Given the description of an element on the screen output the (x, y) to click on. 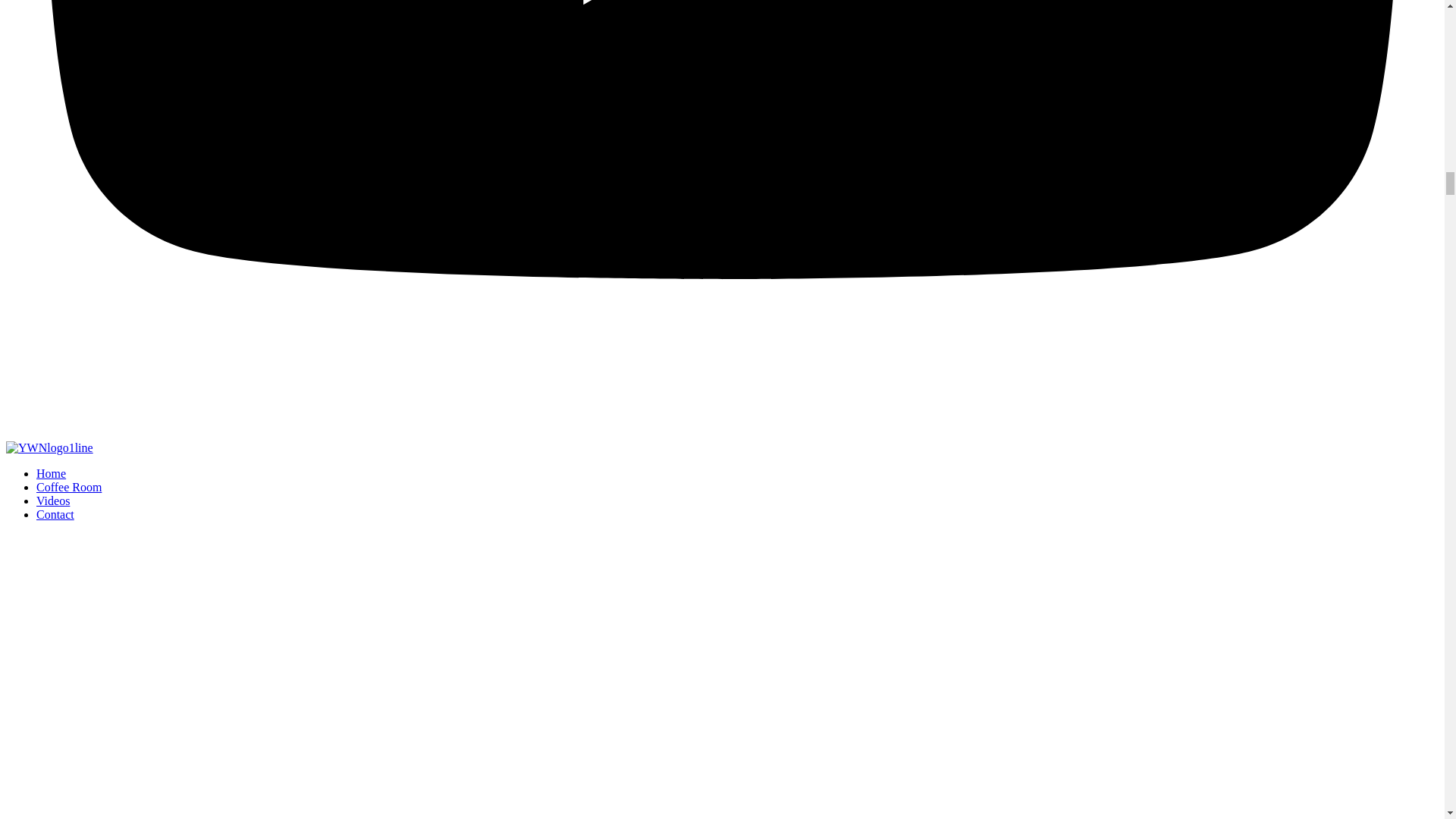
Videos (52, 500)
Coffee Room (68, 486)
YWNlogo1line (49, 448)
Contact (55, 513)
Home (50, 472)
